Given the description of an element on the screen output the (x, y) to click on. 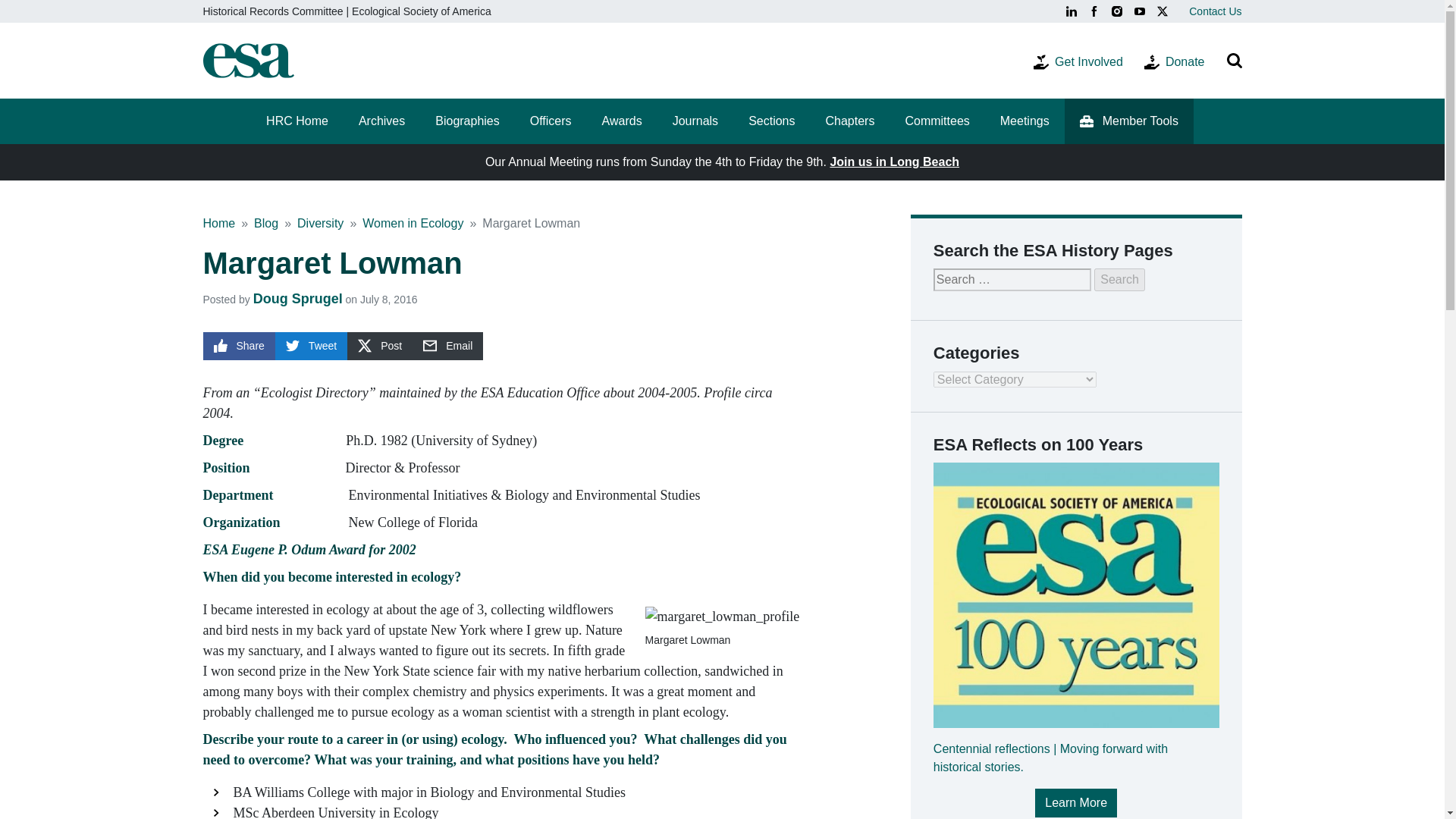
Get Involved (1078, 61)
Member Tools (1128, 121)
Search (1119, 279)
Committees (936, 121)
Doug Sprugel (297, 298)
Chapters (849, 121)
HRC Home (296, 121)
Sections (771, 121)
Women in Ecology (412, 223)
Join us in Long Beach (894, 161)
